Given the description of an element on the screen output the (x, y) to click on. 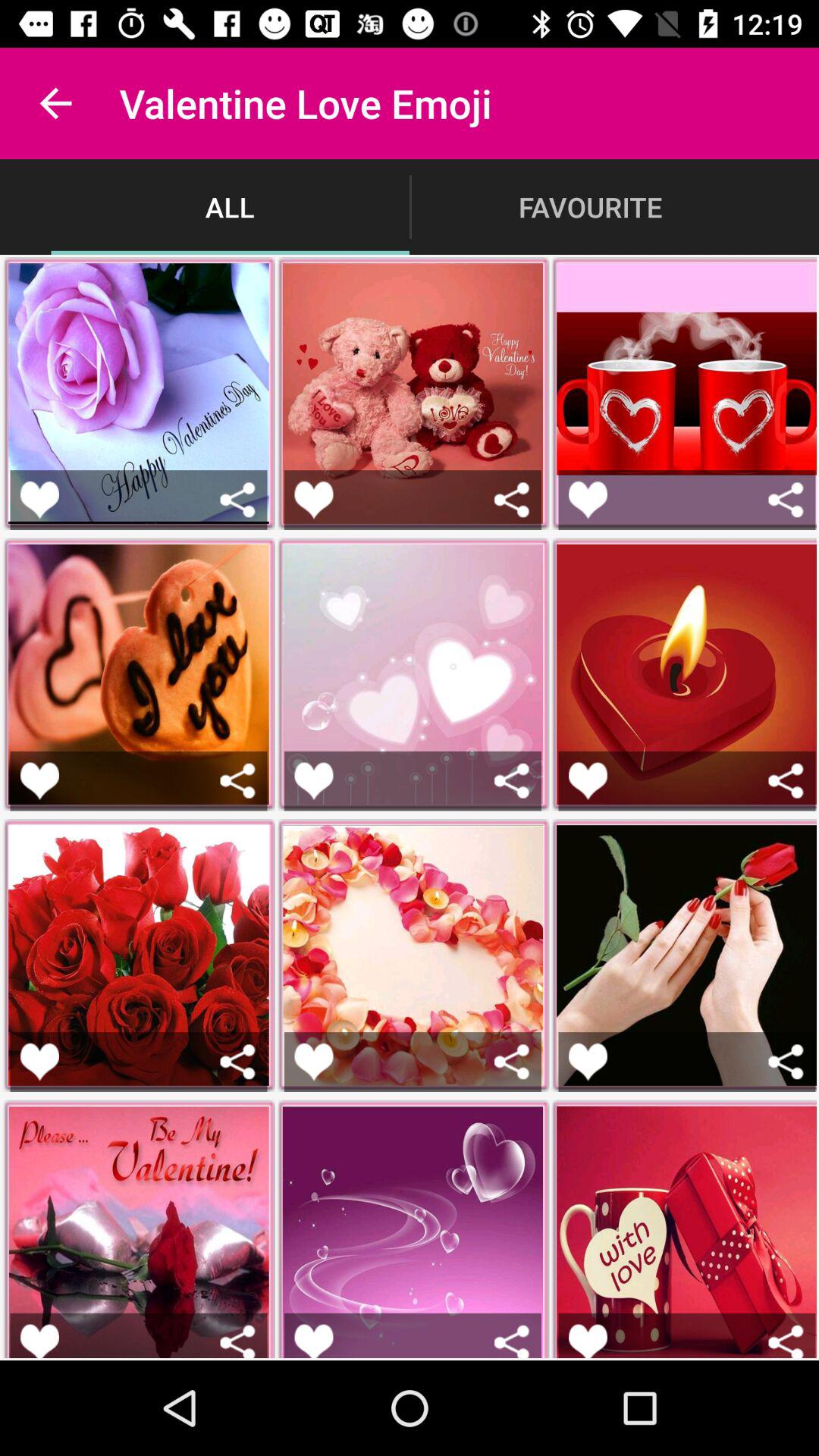
share the article (785, 1061)
